Given the description of an element on the screen output the (x, y) to click on. 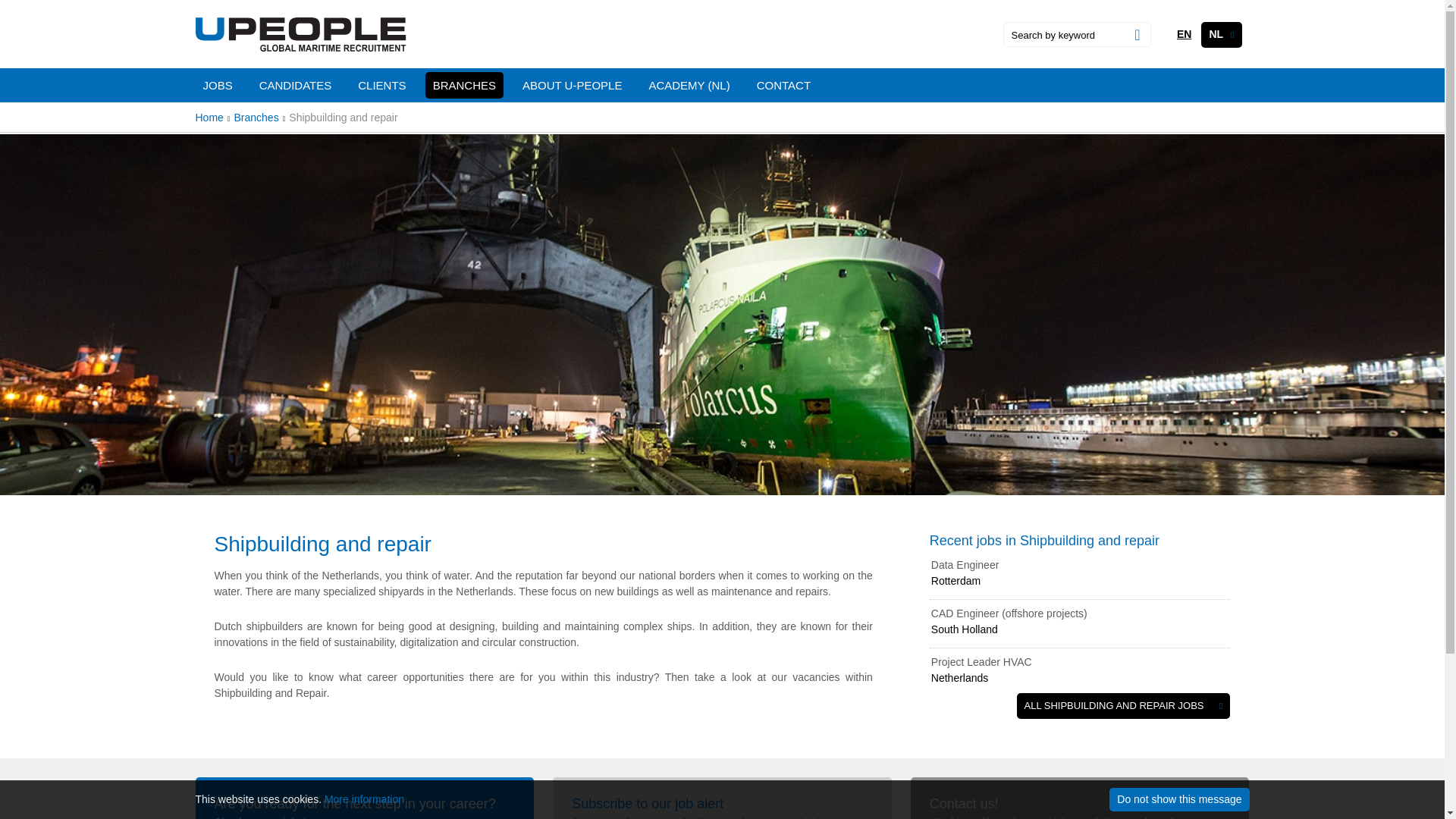
Do not show this message (1179, 799)
JOBS (217, 85)
More information (364, 799)
NL (1221, 33)
CANDIDATES (295, 85)
Search by keyword (1061, 34)
